Given the description of an element on the screen output the (x, y) to click on. 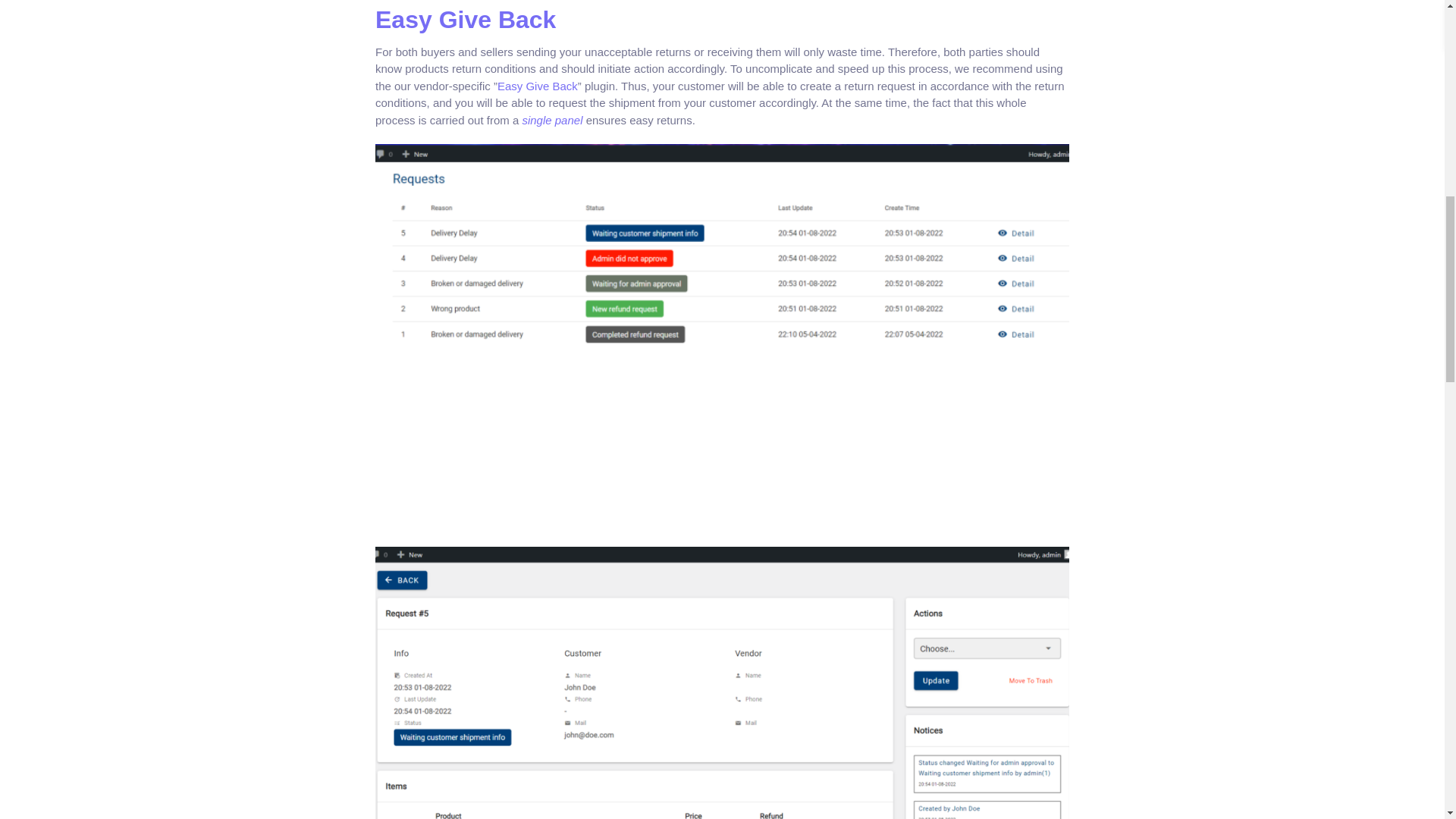
single panel (551, 119)
Easy Give Back (465, 19)
Easy Give Back (537, 85)
